Given the description of an element on the screen output the (x, y) to click on. 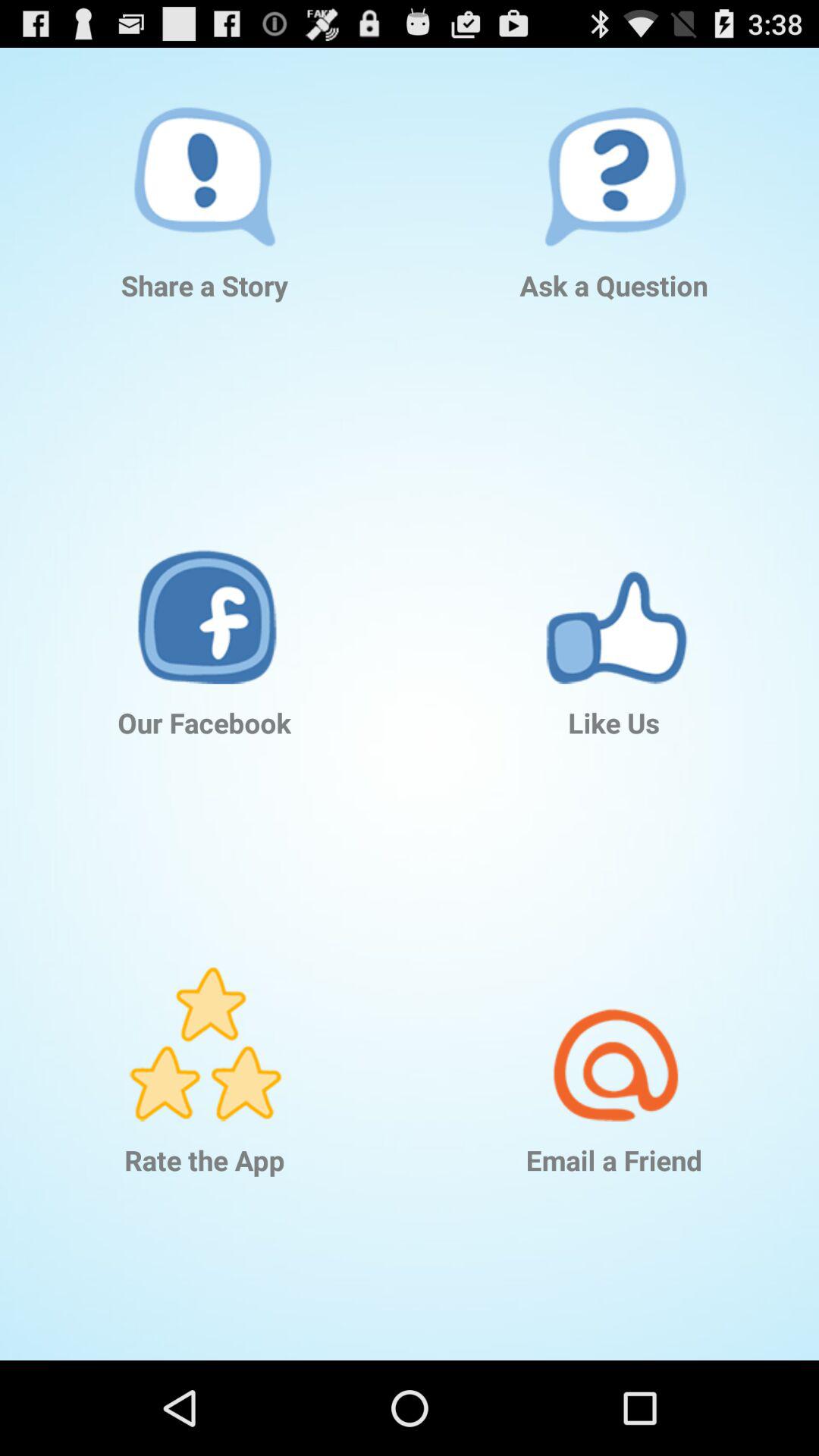
select item below our facebook item (204, 1021)
